Given the description of an element on the screen output the (x, y) to click on. 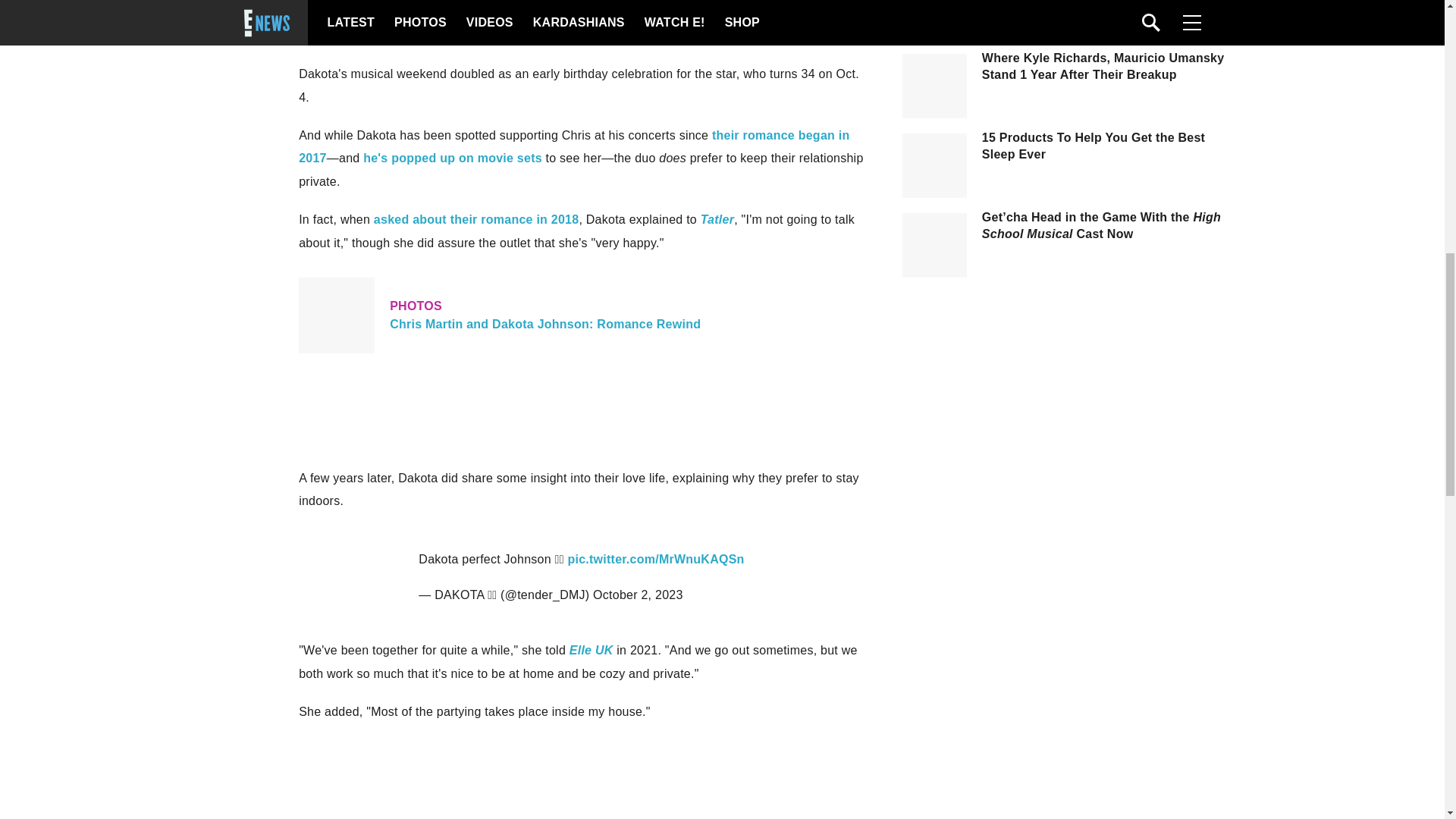
Tatler (716, 219)
he's popped up on movie sets (451, 157)
their romance began in 2017 (573, 146)
Selena Gomez (761, 11)
featured a surprise performance (465, 11)
asked about their romance in 2018 (476, 219)
H.E.R. (355, 35)
